Given the description of an element on the screen output the (x, y) to click on. 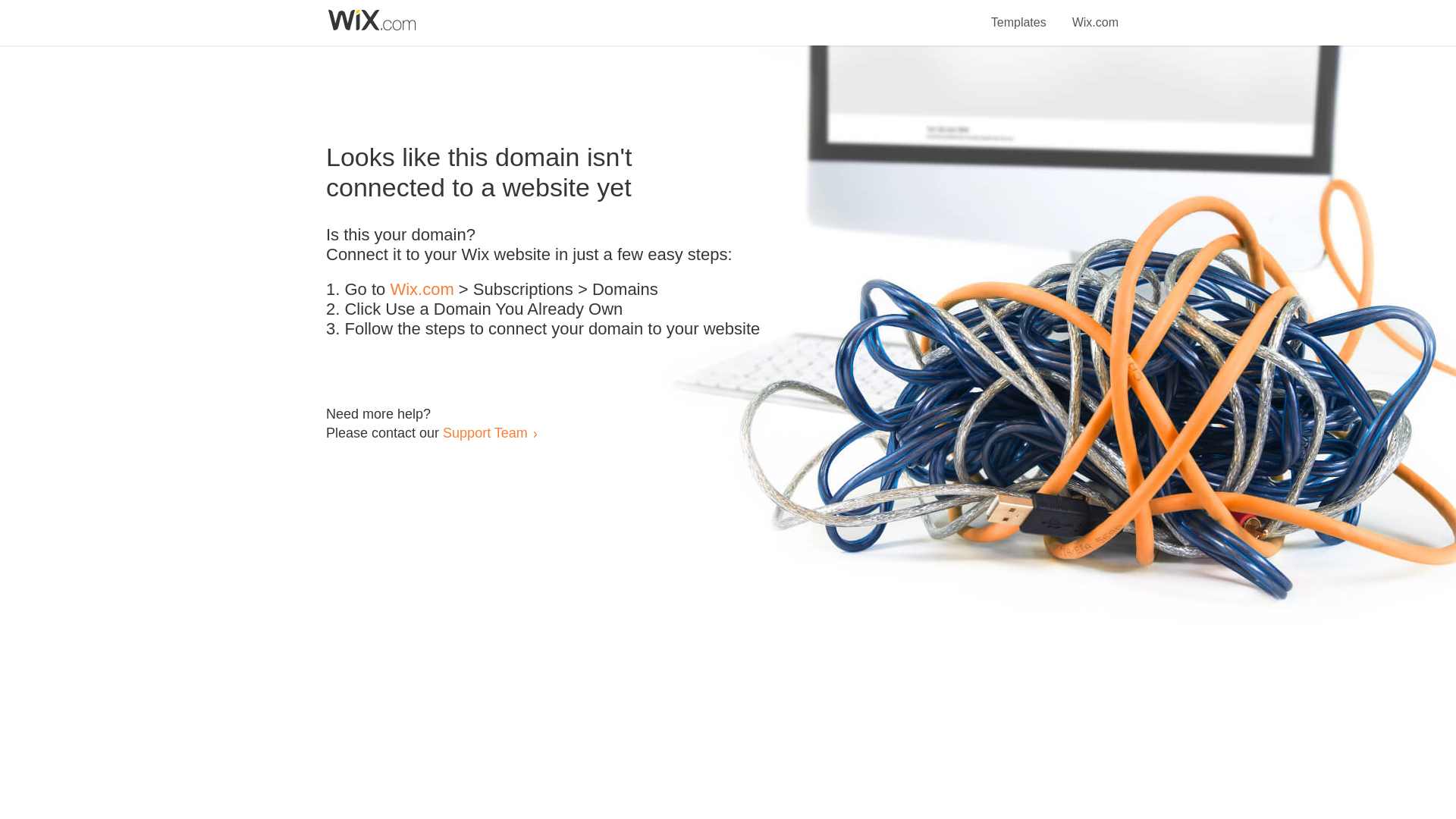
Templates (1018, 14)
Wix.com (1095, 14)
Wix.com (421, 289)
Support Team (484, 432)
